Given the description of an element on the screen output the (x, y) to click on. 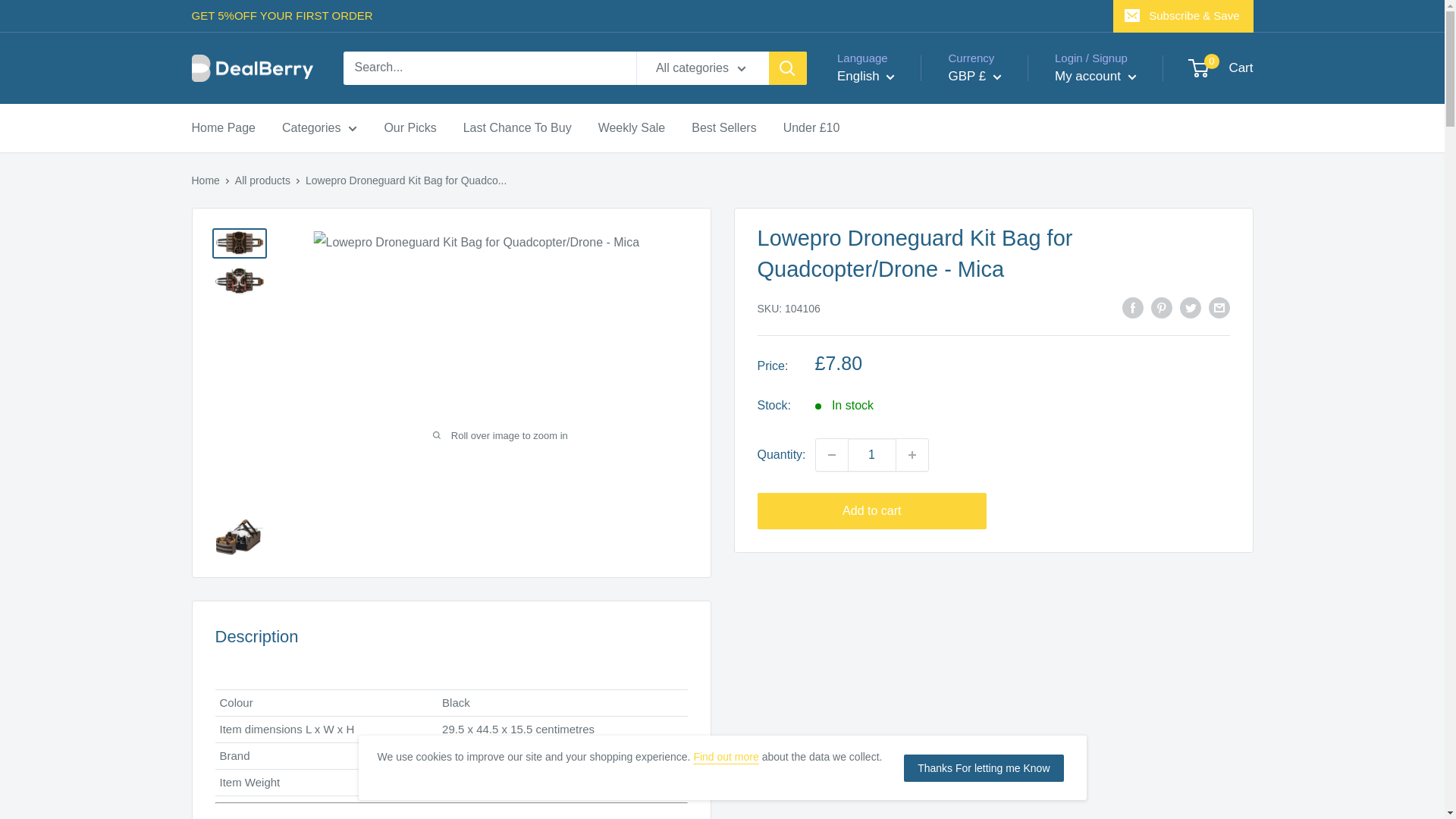
Increase quantity by 1 (912, 454)
Decrease quantity by 1 (831, 454)
1 (871, 454)
